Given the description of an element on the screen output the (x, y) to click on. 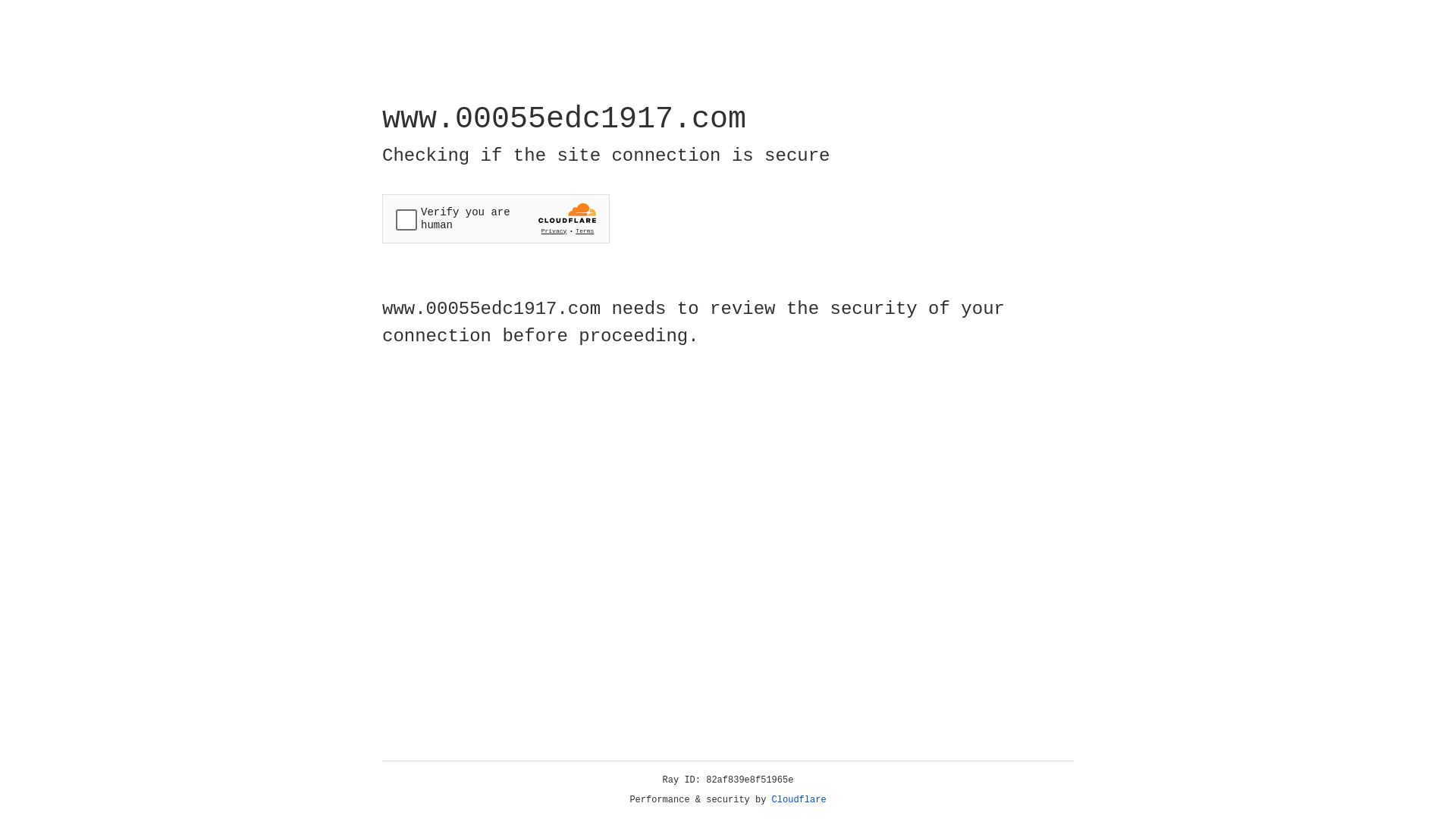
Widget containing a Cloudflare security challenge Element type: hover (495, 218)
Cloudflare Element type: text (798, 799)
